Given the description of an element on the screen output the (x, y) to click on. 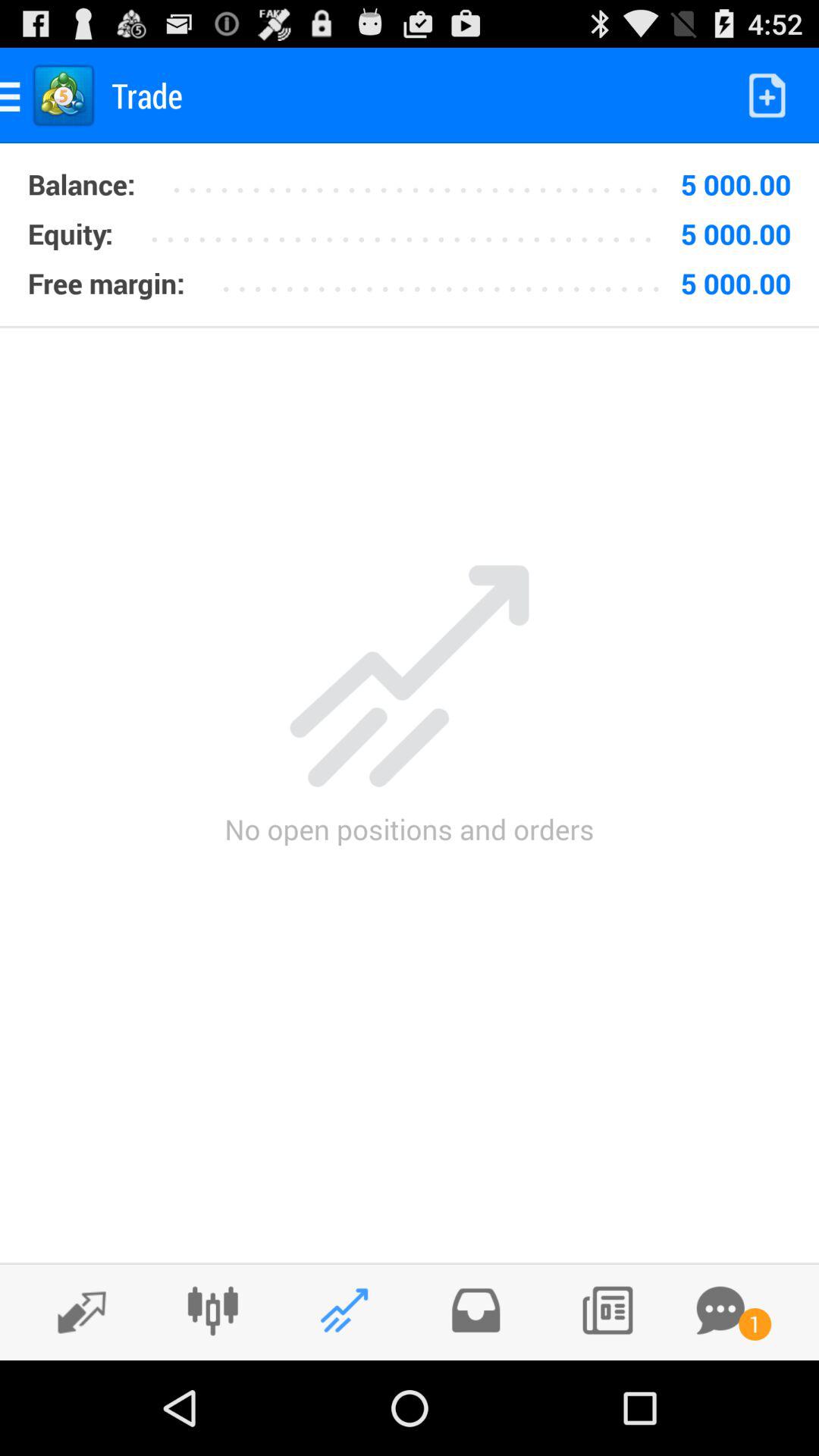
turn off the item above no open positions icon (409, 326)
